Given the description of an element on the screen output the (x, y) to click on. 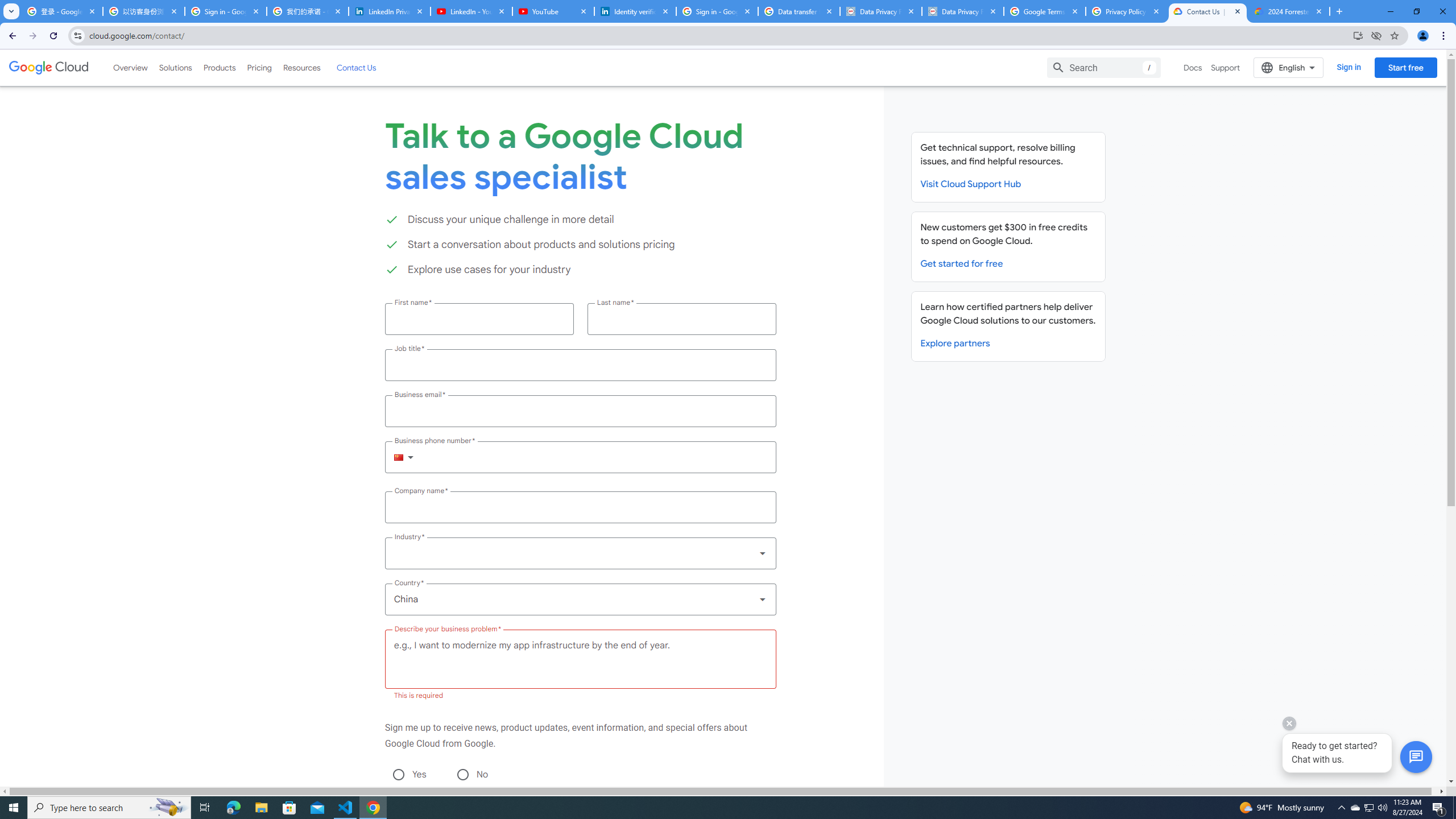
Country * (580, 599)
Describe your business problem * (580, 658)
No (462, 773)
First name * (478, 318)
LinkedIn - YouTube (470, 11)
Job title * (580, 364)
